Given the description of an element on the screen output the (x, y) to click on. 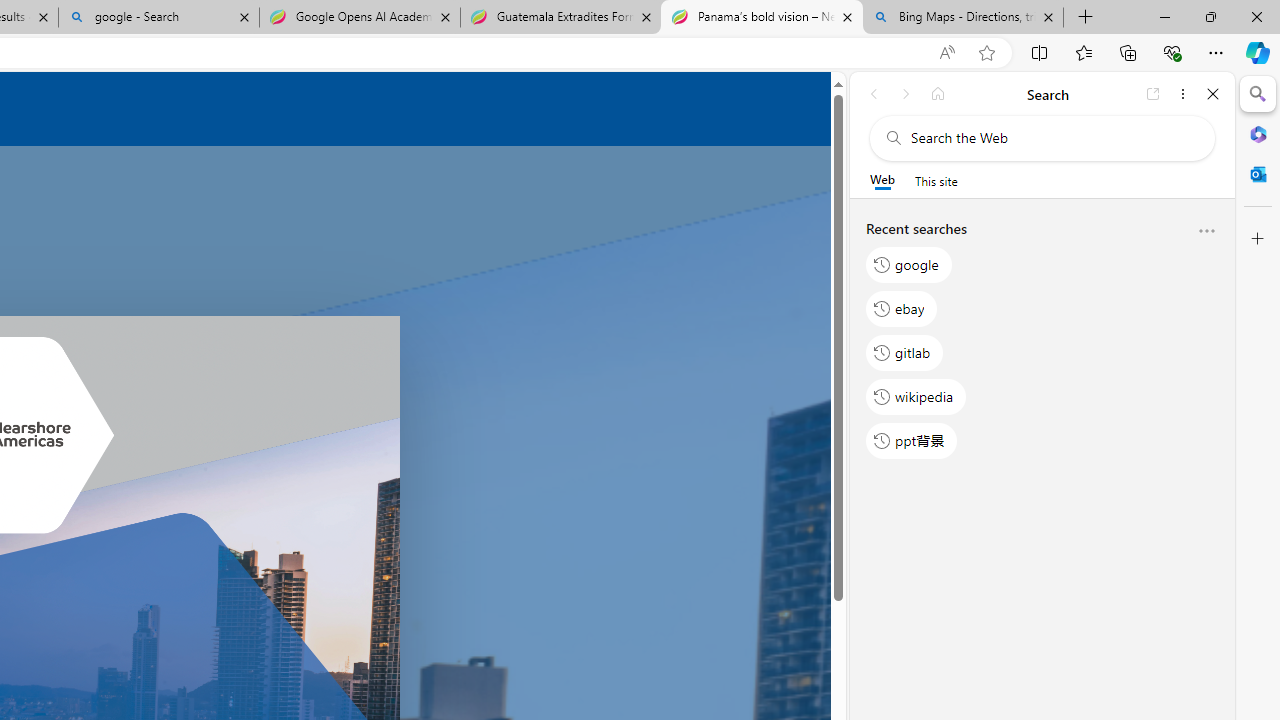
Split screen (1039, 52)
This site scope (936, 180)
Search (1258, 94)
Close (1213, 93)
More options (1206, 232)
Open link in new tab (1153, 93)
Settings and more (Alt+F) (1215, 52)
Home (938, 93)
gitlab (905, 352)
Customize (1258, 239)
